Given the description of an element on the screen output the (x, y) to click on. 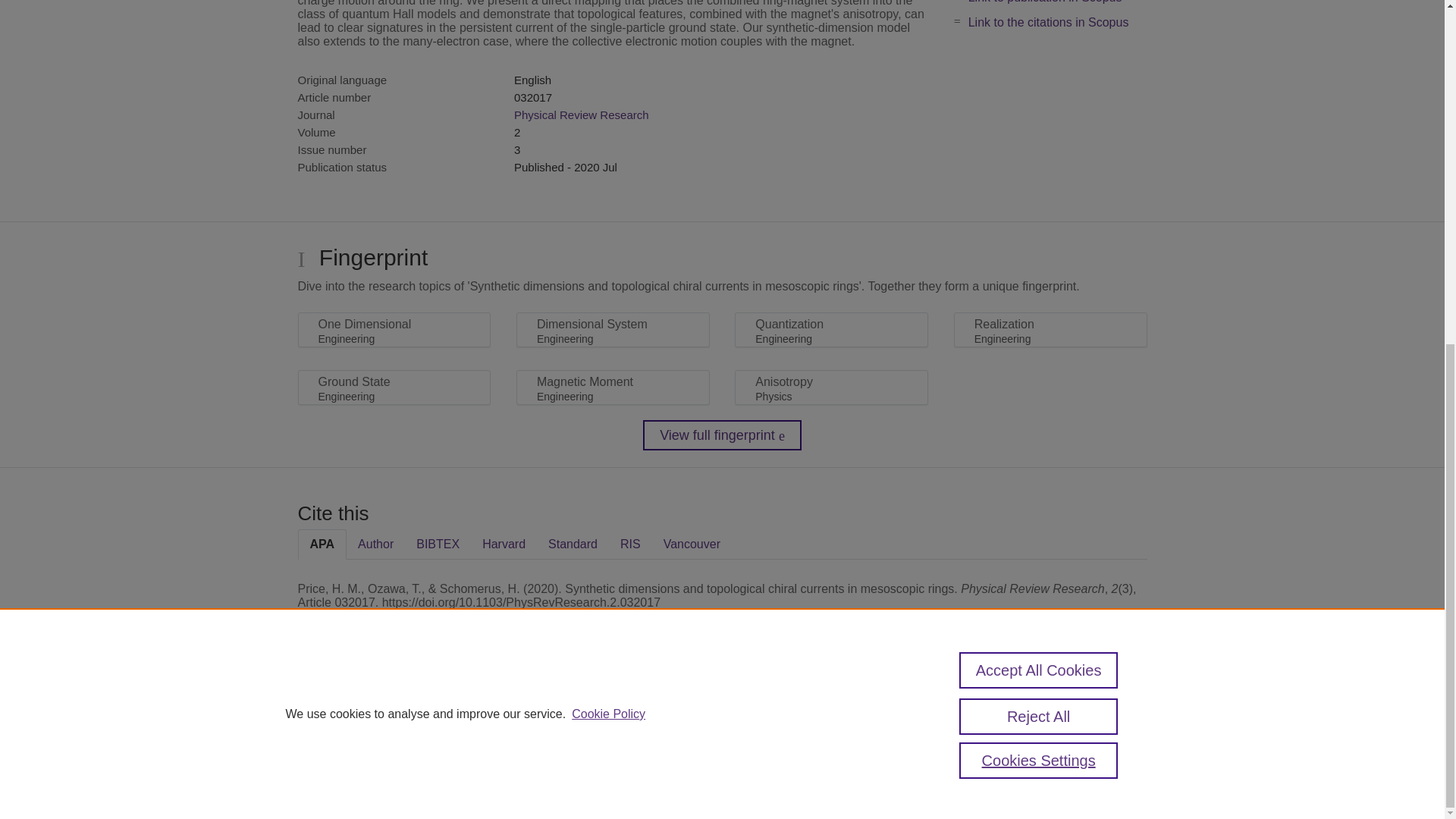
use of cookies (796, 760)
Cookies Settings (334, 781)
Physical Review Research (581, 114)
Link to publication in Scopus (1045, 2)
Scopus (394, 708)
About web accessibility (1088, 713)
View full fingerprint (722, 435)
Elsevier B.V. (506, 728)
Link to the citations in Scopus (1048, 21)
Pure (362, 708)
